Given the description of an element on the screen output the (x, y) to click on. 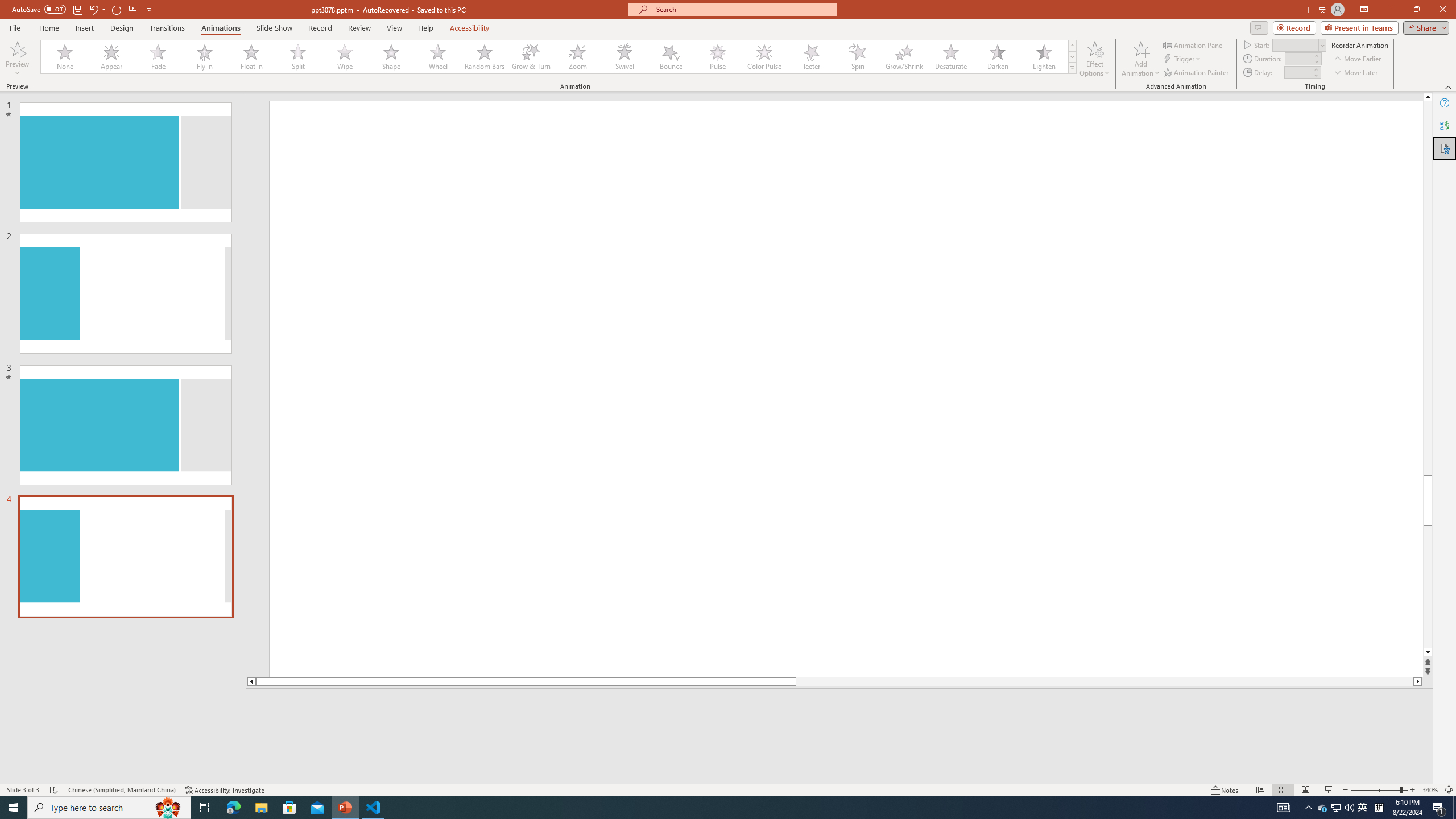
Grow/Shrink (903, 56)
Bounce (670, 56)
Lighten (1043, 56)
